Given the description of an element on the screen output the (x, y) to click on. 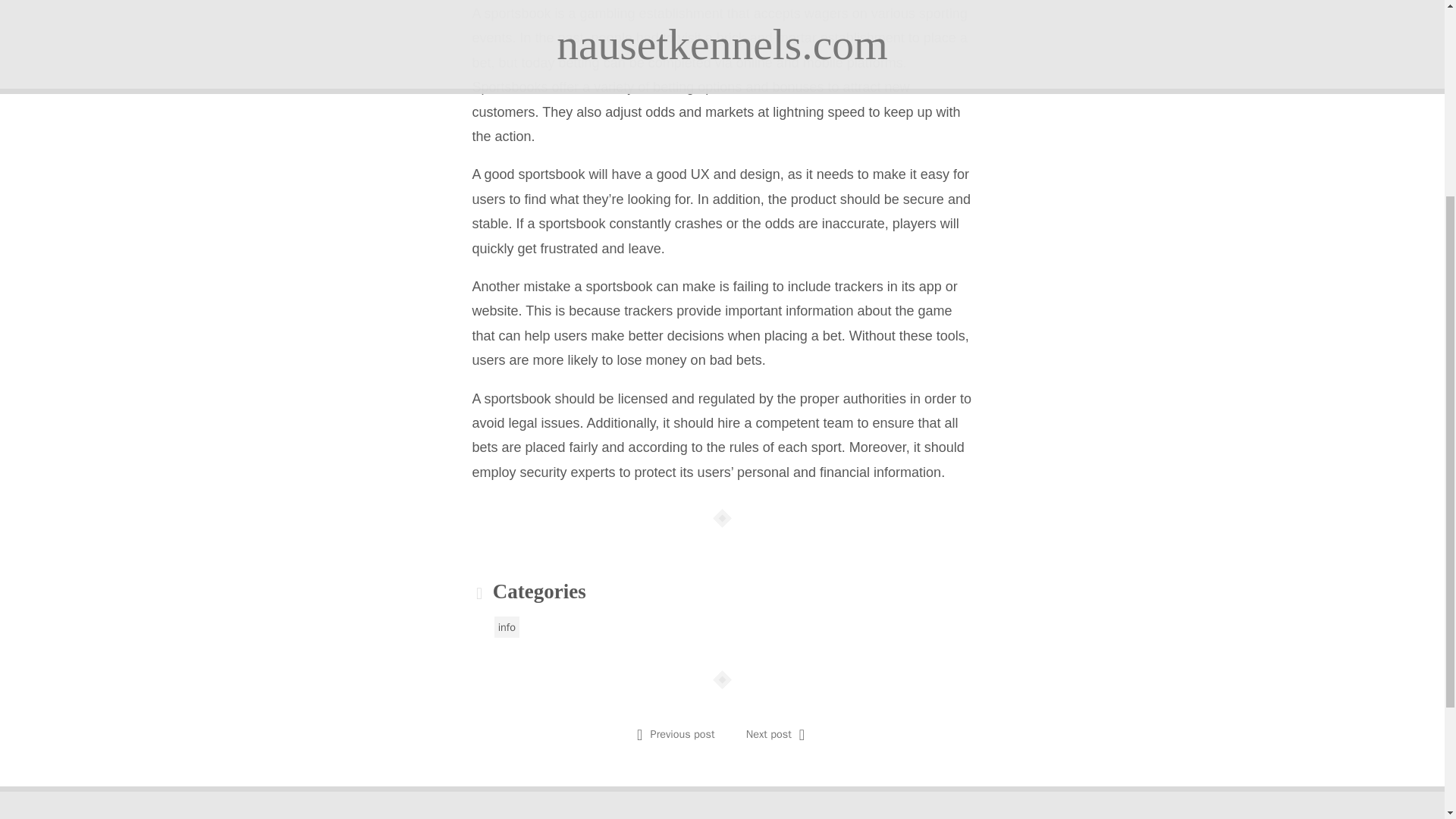
Next post (768, 734)
Previous post (682, 734)
info (507, 627)
